Given the description of an element on the screen output the (x, y) to click on. 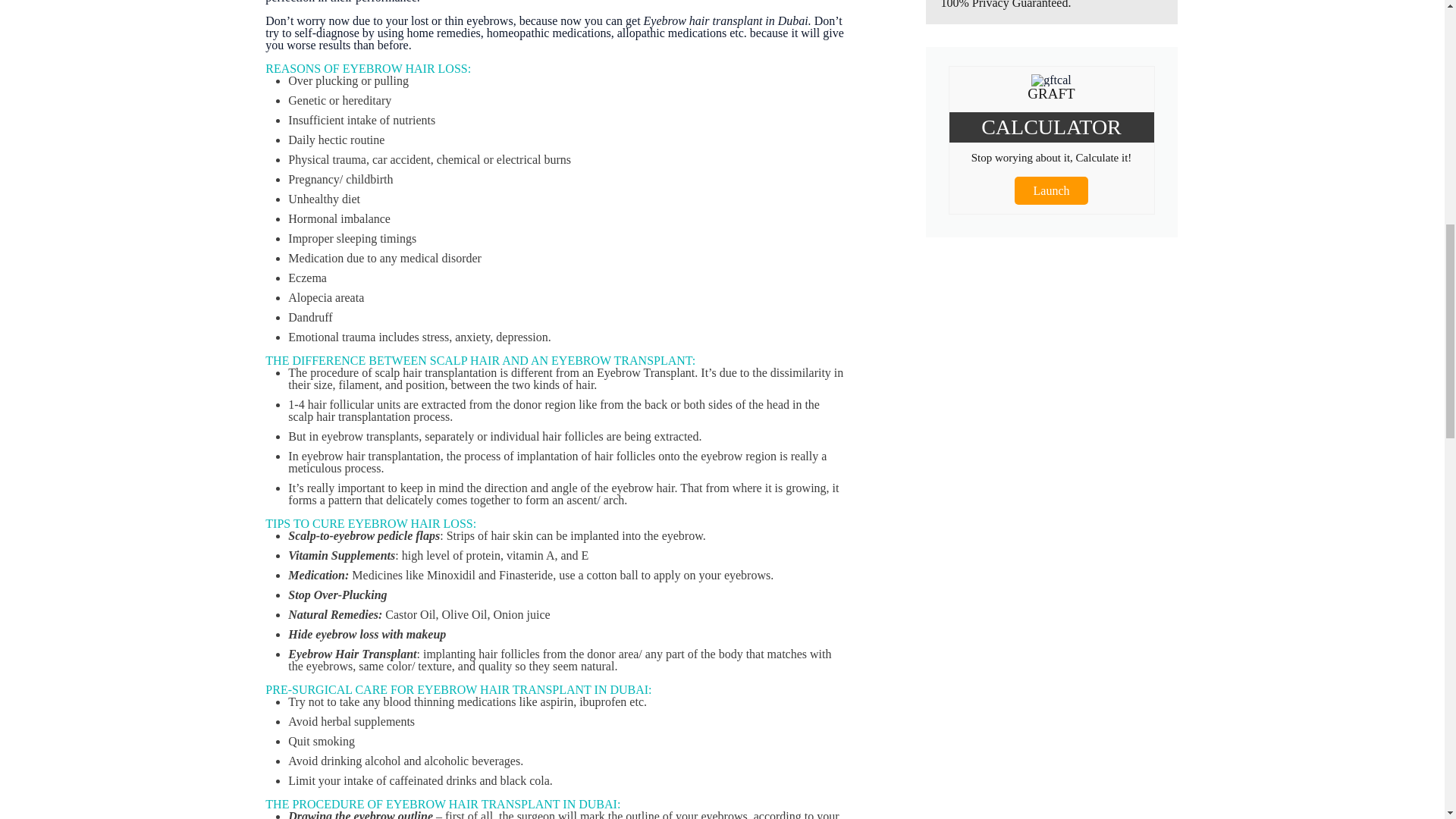
Launch (1051, 190)
